Given the description of an element on the screen output the (x, y) to click on. 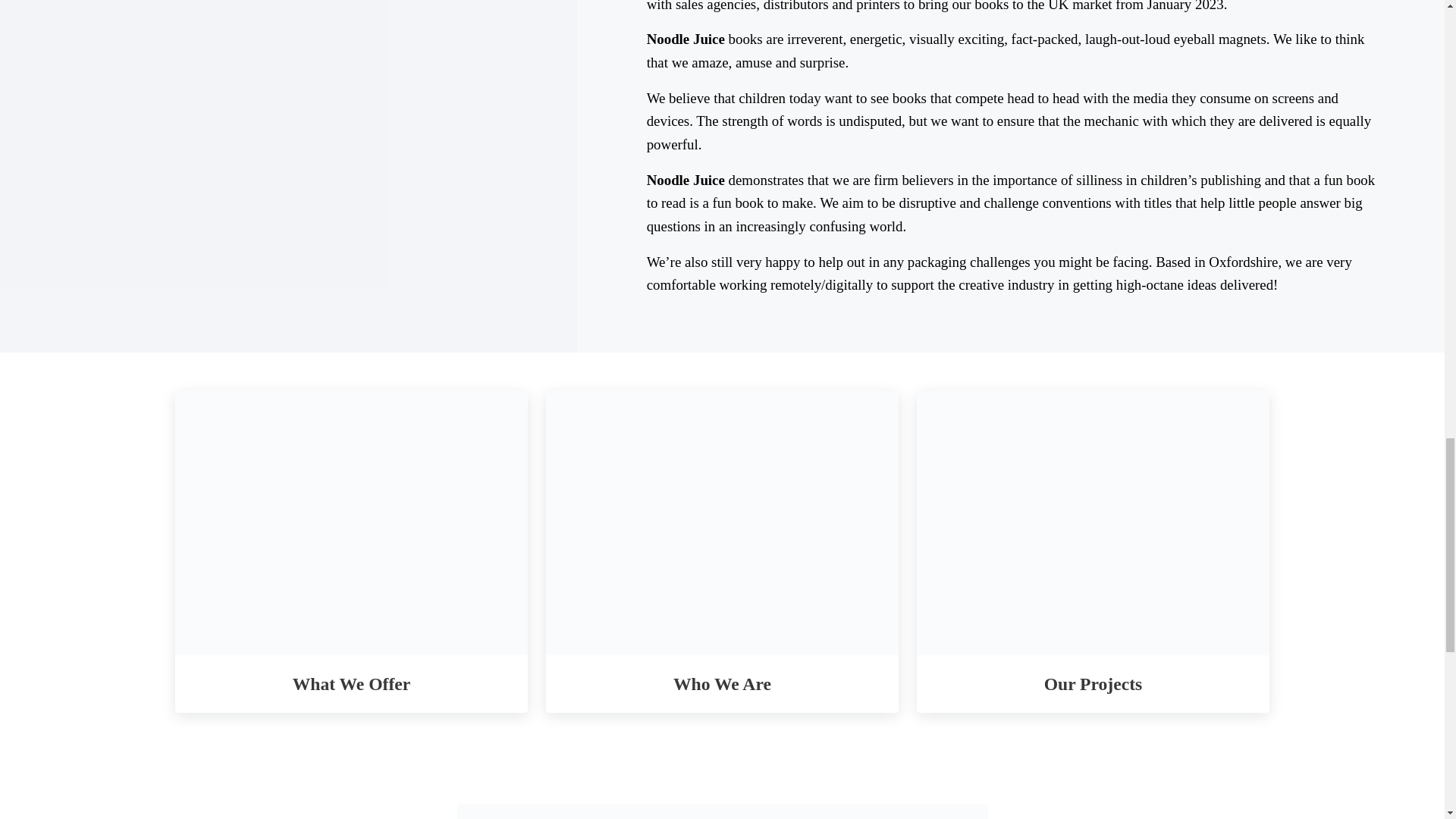
Our Projects (1092, 684)
Who We Are (722, 684)
What We Offer (351, 684)
